Given the description of an element on the screen output the (x, y) to click on. 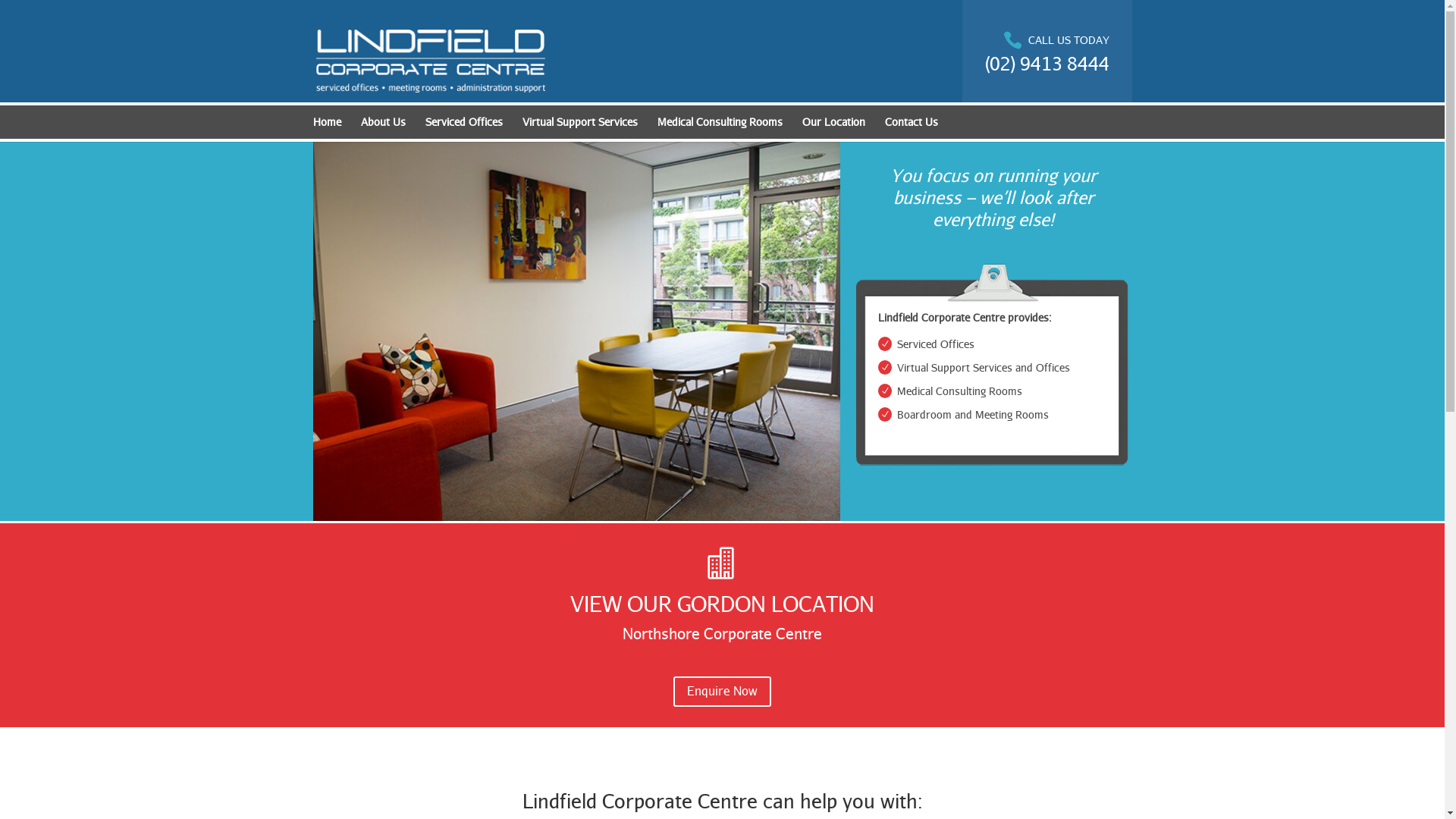
Serviced Offices Element type: text (463, 125)
Enquire Now Element type: text (722, 691)
Our Location Element type: text (833, 125)
VIEW OUR GORDON LOCATION Element type: text (722, 603)
About Us Element type: text (382, 125)
Medical Consulting Rooms Element type: text (718, 125)
Home Element type: text (326, 125)
Contact Us Element type: text (910, 125)
Virtual Support Services Element type: text (579, 125)
